Given the description of an element on the screen output the (x, y) to click on. 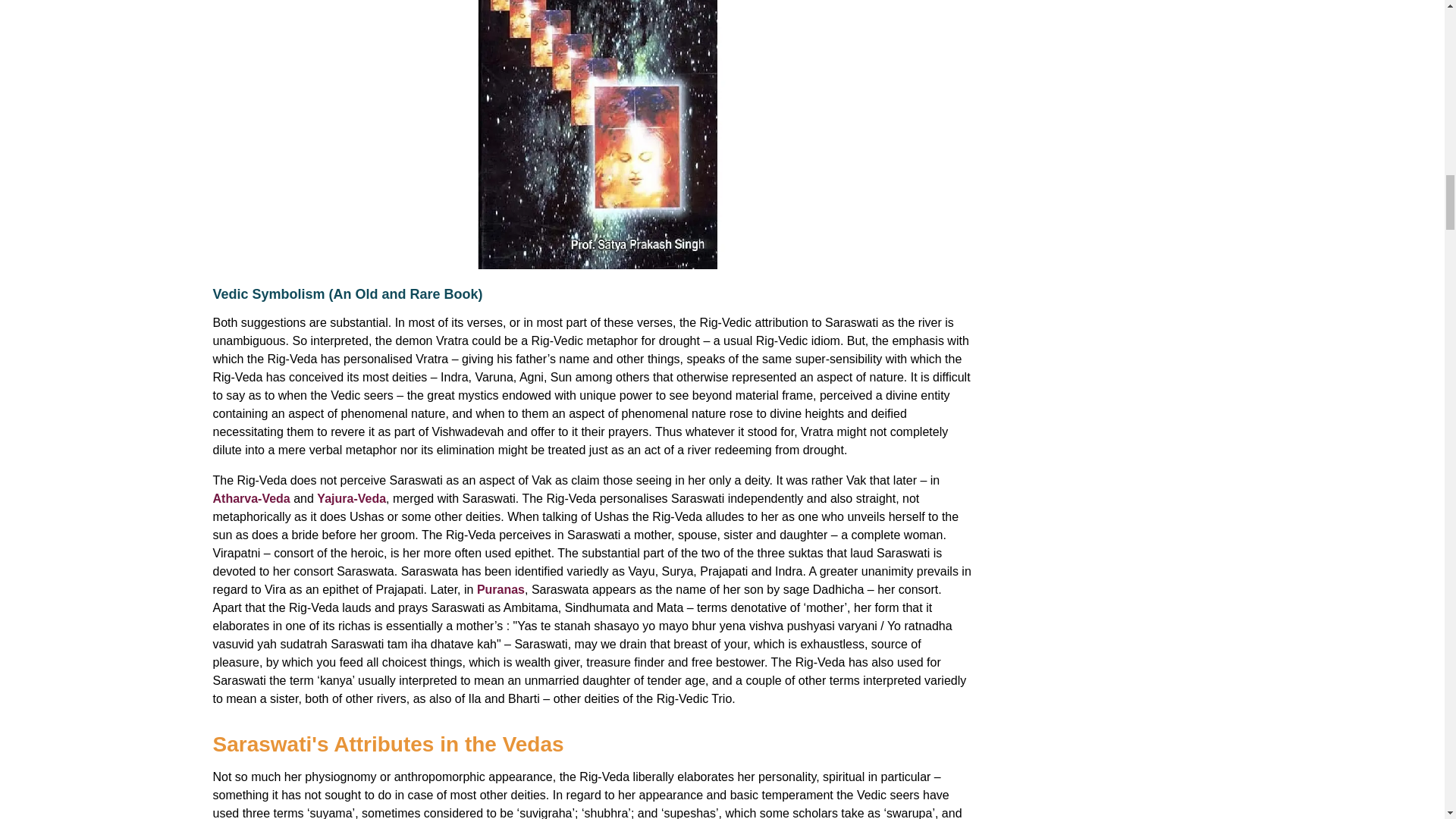
Atharva-Veda (250, 498)
Puranas (500, 589)
Yajura-Veda (351, 498)
